Given the description of an element on the screen output the (x, y) to click on. 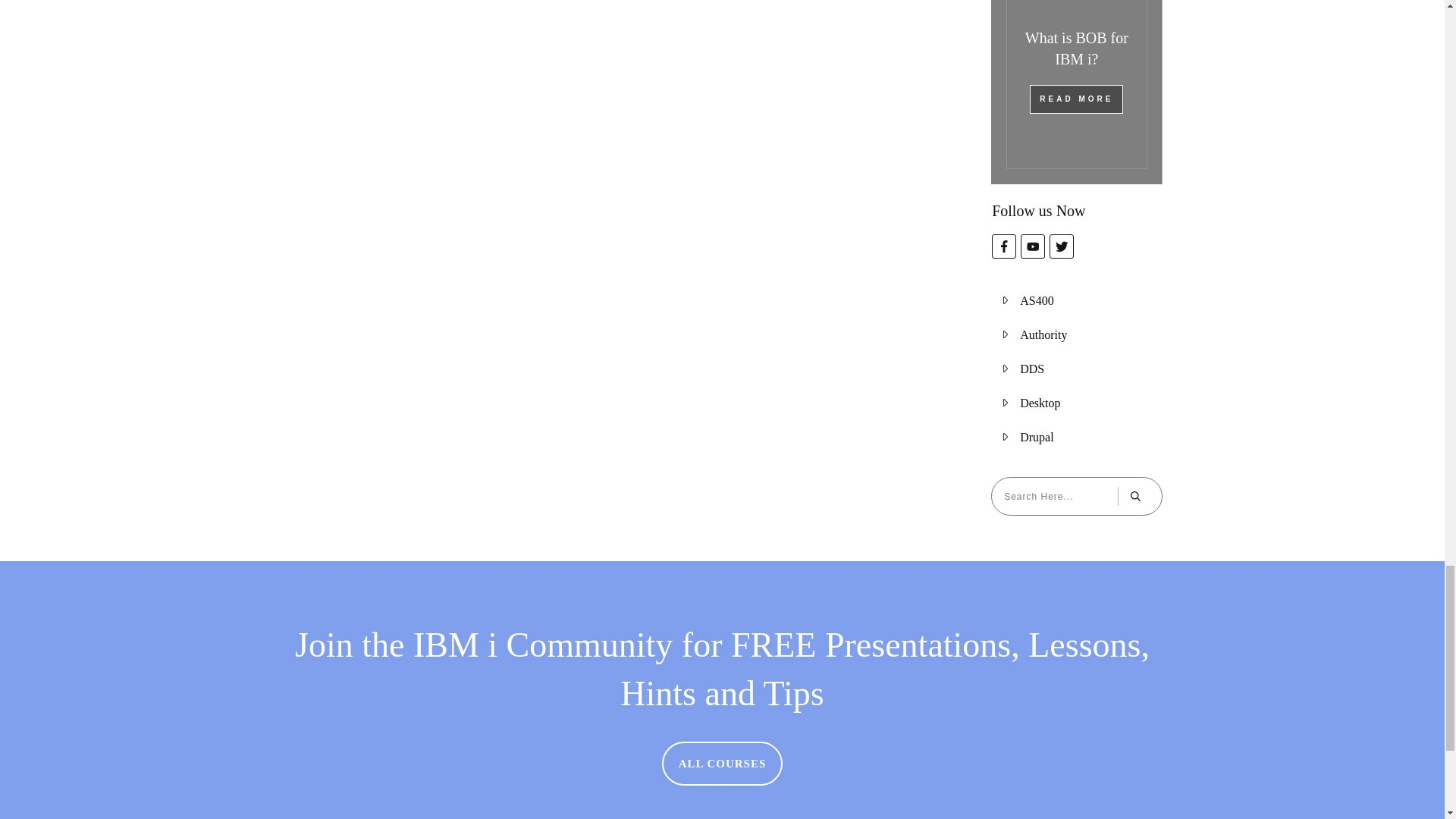
What is BOB for IBM i? (1076, 48)
